Given the description of an element on the screen output the (x, y) to click on. 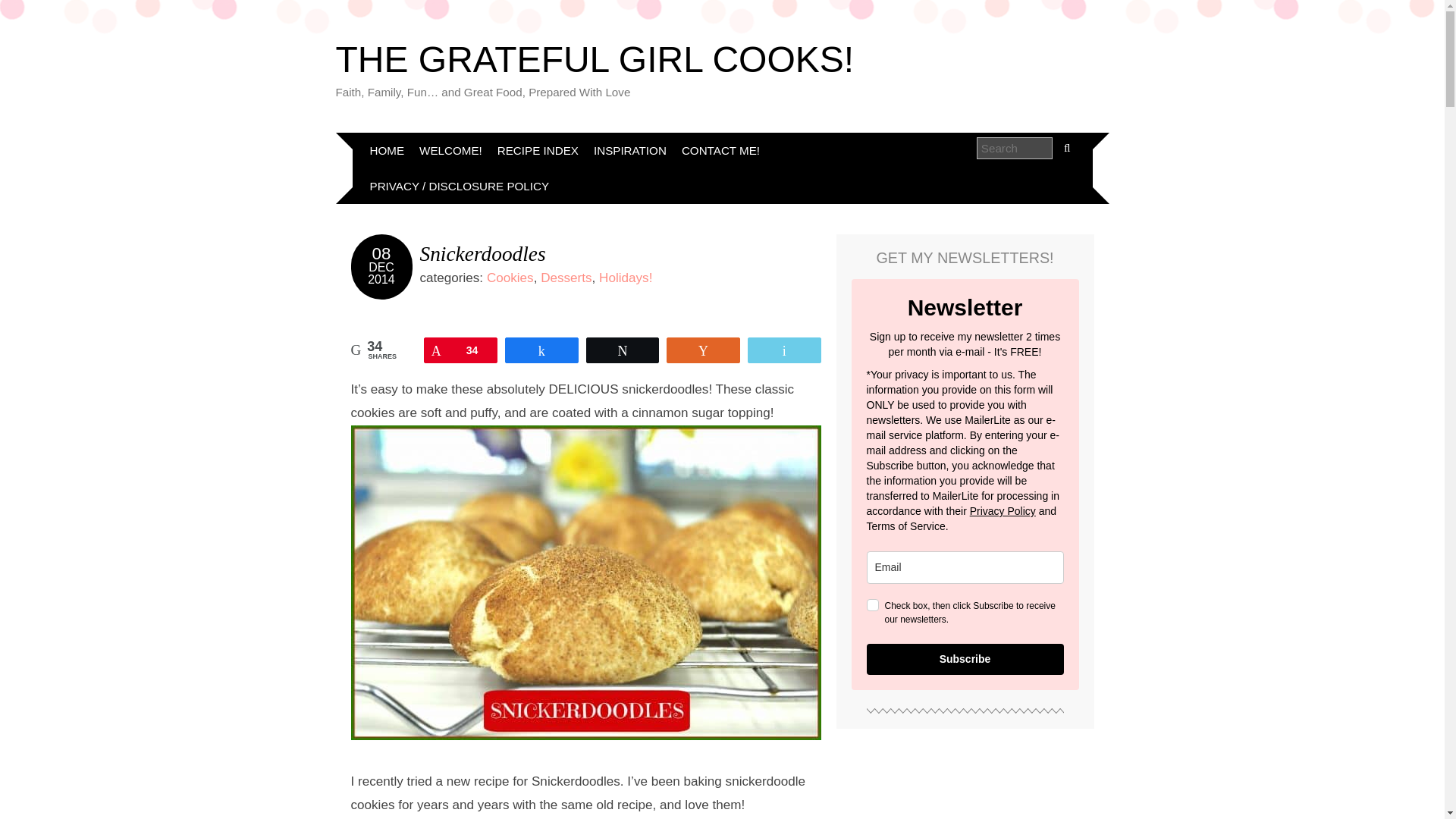
Cookies (510, 278)
THE GRATEFUL GIRL COOKS! (593, 59)
INSPIRATION (630, 150)
Snickerdoodles (483, 253)
34 (460, 349)
Desserts (565, 278)
08 (381, 253)
RECIPE INDEX (537, 150)
WELCOME! (450, 150)
Holidays! (625, 278)
CONTACT ME! (720, 150)
HOME (387, 150)
